Given the description of an element on the screen output the (x, y) to click on. 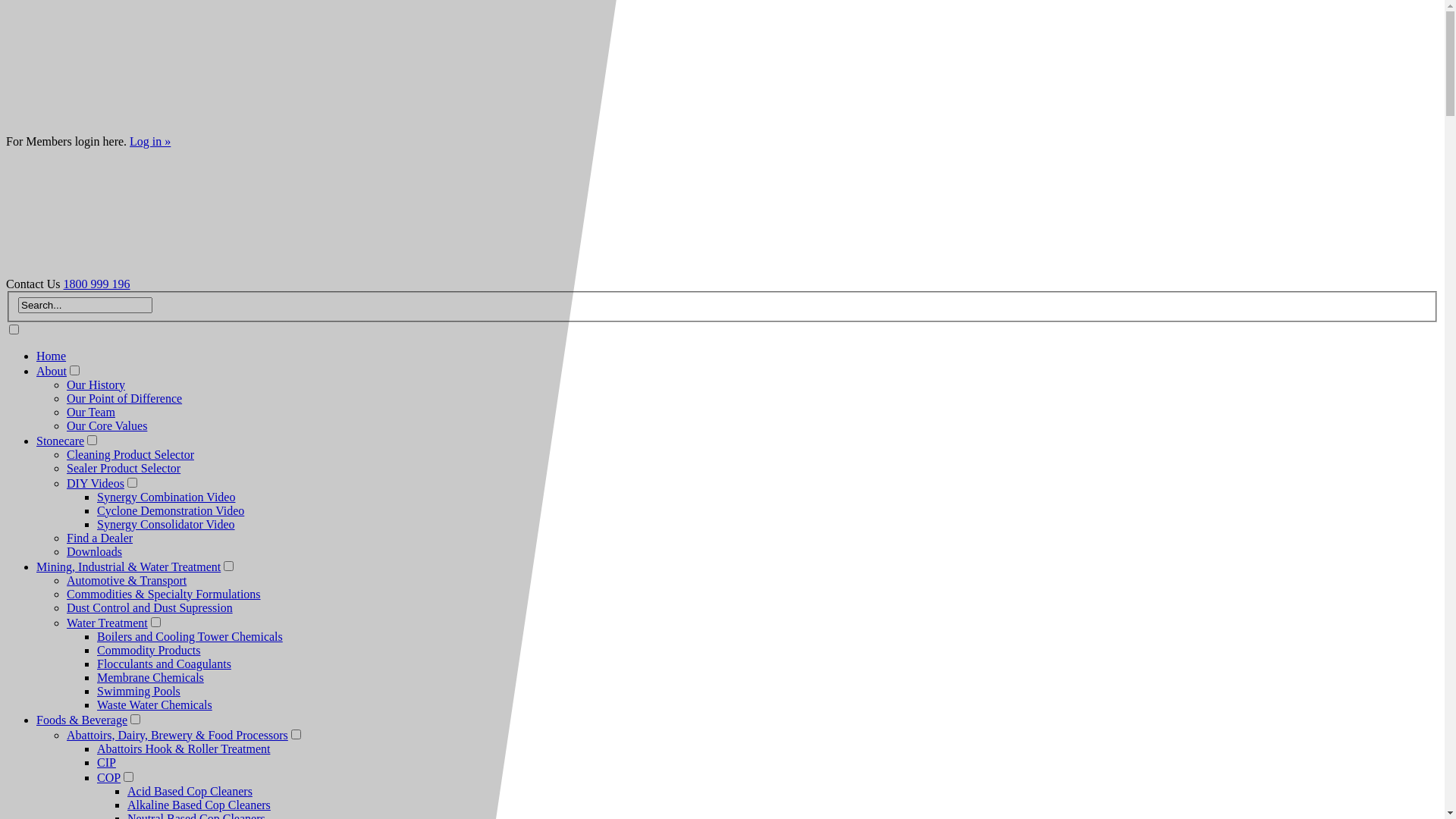
COP Element type: text (108, 777)
Flocculants and Coagulants Element type: text (164, 663)
Cyclone Demonstration Video Element type: text (170, 510)
Our Team Element type: text (90, 411)
Our History Element type: text (95, 384)
Cleaning Product Selector Element type: text (130, 454)
About Element type: text (51, 370)
Dust Control and Dust Supression Element type: text (149, 607)
Home Element type: text (50, 355)
Stonecare Element type: text (60, 440)
Commodity Products Element type: text (148, 649)
Commodities & Specialty Formulations Element type: text (163, 593)
DIY Videos Element type: text (95, 482)
CIP Element type: text (106, 762)
Abattoirs, Dairy, Brewery & Food Processors Element type: text (177, 734)
Water Treatment Element type: text (106, 622)
Waste Water Chemicals Element type: text (154, 704)
Boilers and Cooling Tower Chemicals Element type: text (189, 636)
Foods & Beverage Element type: text (81, 719)
Synergy Combination Video Element type: text (166, 496)
Synergy Consolidator Video Element type: text (166, 523)
Our Point of Difference Element type: text (124, 398)
Mining, Industrial & Water Treatment Element type: text (128, 566)
Membrane Chemicals Element type: text (150, 677)
Acid Based Cop Cleaners Element type: text (189, 790)
Abattoirs Hook & Roller Treatment Element type: text (183, 748)
Our Core Values Element type: text (106, 425)
1800 999 196 Element type: text (96, 283)
Downloads Element type: text (94, 551)
Sealer Product Selector Element type: text (123, 467)
Alkaline Based Cop Cleaners Element type: text (198, 804)
Find a Dealer Element type: text (99, 537)
Swimming Pools Element type: text (138, 690)
Automotive & Transport Element type: text (126, 580)
